Given the description of an element on the screen output the (x, y) to click on. 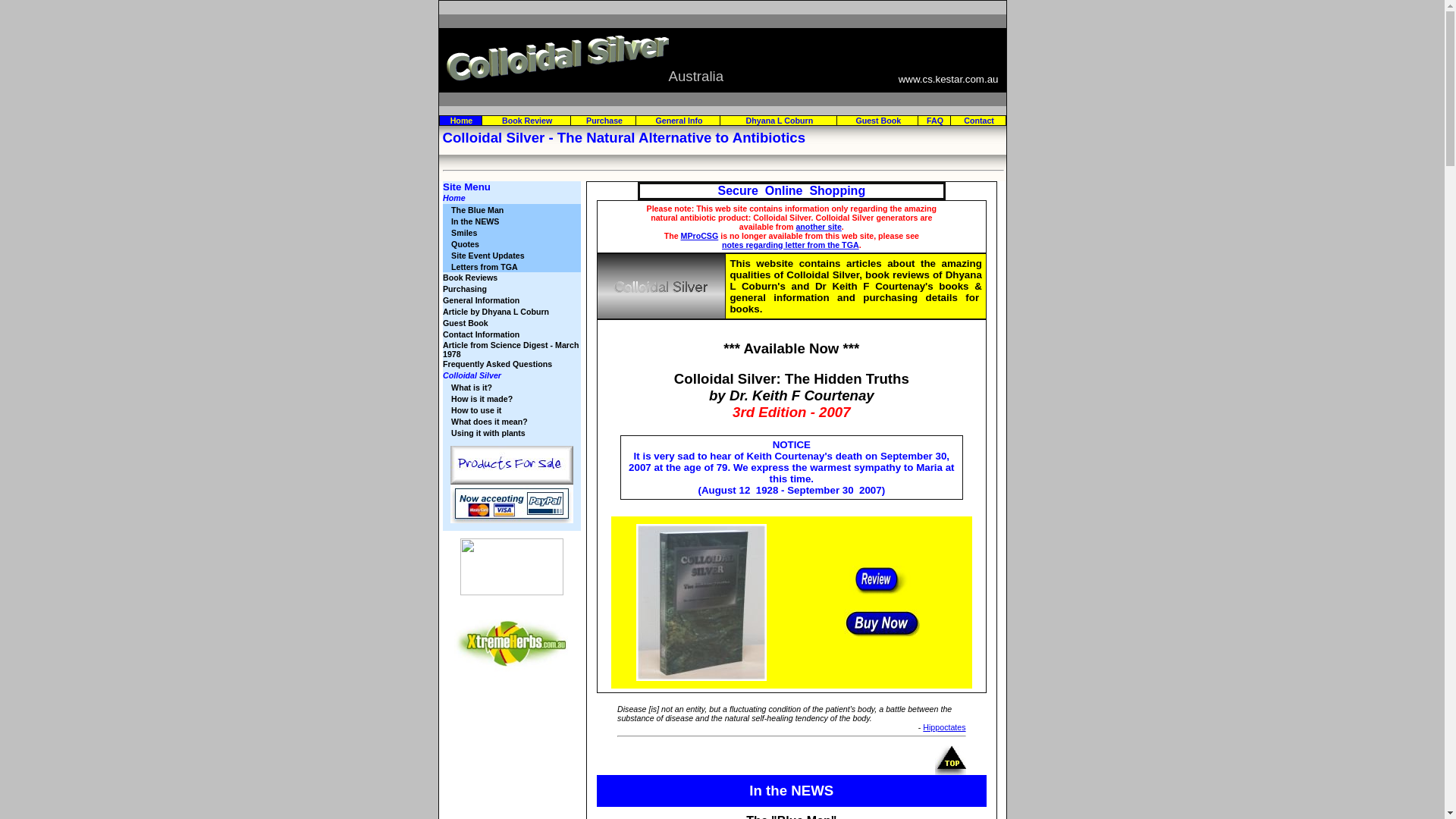
Frequently Asked Questions Element type: text (497, 363)
Colloidal Silver: The Hidden Truths Element type: text (791, 378)
notes regarding letter from the TGA Element type: text (790, 243)
How is it made? Element type: text (481, 398)
How to use it Element type: text (476, 409)
Article by Dhyana L Coburn Element type: text (495, 311)
MProCSG Element type: text (699, 234)
Guest Book Element type: text (877, 120)
What is it? Element type: text (471, 386)
Purchasing Element type: text (464, 288)
Smiles Element type: text (463, 231)
The Blue Man Element type: text (477, 208)
Quotes Element type: text (465, 243)
In the NEWS Element type: text (474, 220)
Article from Science Digest - March 1978 Element type: text (510, 348)
Book Reviews Element type: text (469, 277)
Hippoctates Element type: text (943, 726)
What does it mean? Element type: text (489, 421)
General Information Element type: text (480, 299)
another site Element type: text (817, 225)
Contact Information Element type: text (480, 333)
Dhyana L Coburn Element type: text (779, 120)
Site Event Updates Element type: text (487, 254)
General Info Element type: text (678, 120)
Purchase Element type: text (604, 120)
Contact Element type: text (978, 120)
Guest Book Element type: text (465, 322)
Book Review Element type: text (527, 120)
Home Element type: text (461, 120)
Using it with plants Element type: text (488, 431)
FAQ Element type: text (934, 120)
Letters from TGA Element type: text (484, 266)
